Given the description of an element on the screen output the (x, y) to click on. 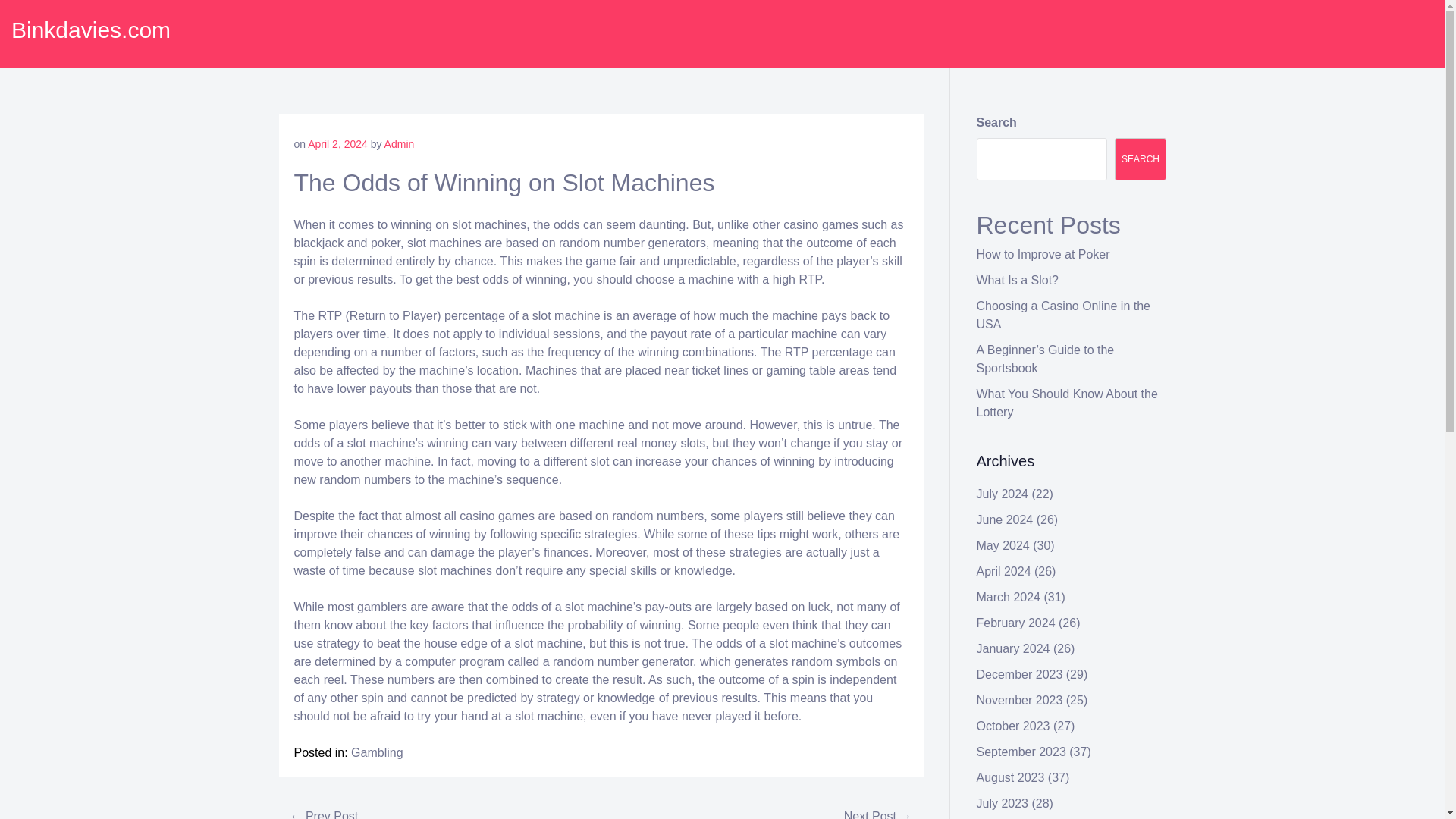
Choosing a Casino Online in the USA (1063, 314)
What Is a Slot? (1017, 279)
October 2023 (1012, 725)
Binkdavies.com (90, 29)
March 2024 (1008, 596)
July 2023 (1002, 802)
January 2024 (1012, 648)
What You Should Know About the Lottery (1066, 402)
September 2023 (1020, 751)
July 2024 (1002, 493)
